Given the description of an element on the screen output the (x, y) to click on. 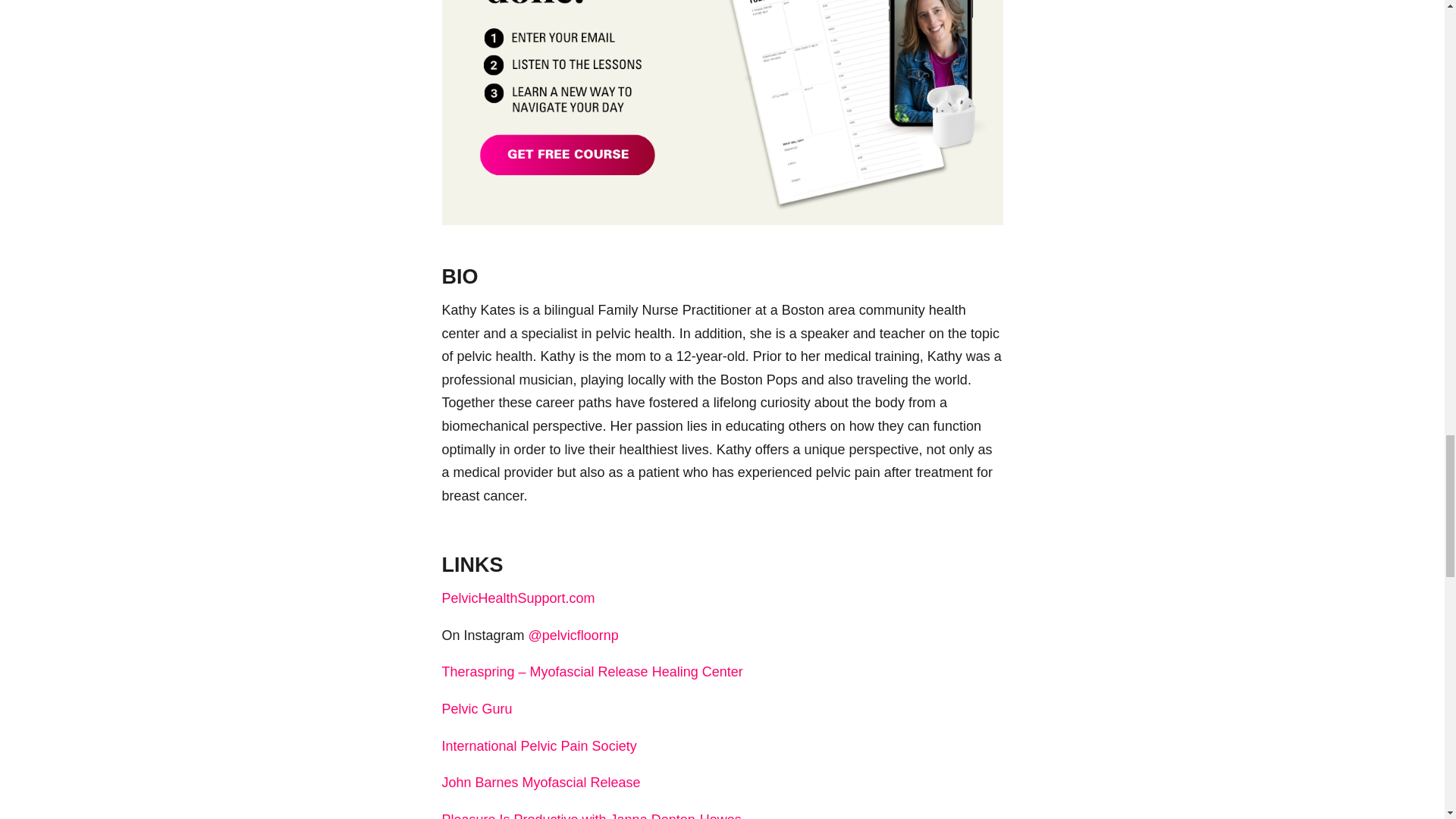
Pleasure Is Productive with Janna Denton-Howes (591, 815)
Pelvic Guru (476, 708)
PelvicHealthSupport.com (517, 598)
International Pelvic Pain Society (538, 745)
John Barnes Myofascial Release (540, 782)
